Given the description of an element on the screen output the (x, y) to click on. 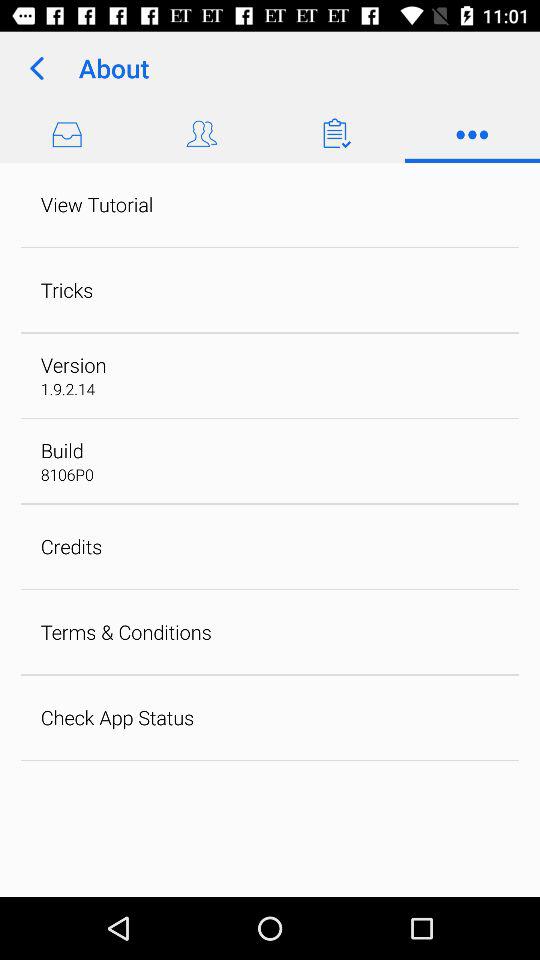
turn off the item to the left of about (36, 68)
